Given the description of an element on the screen output the (x, y) to click on. 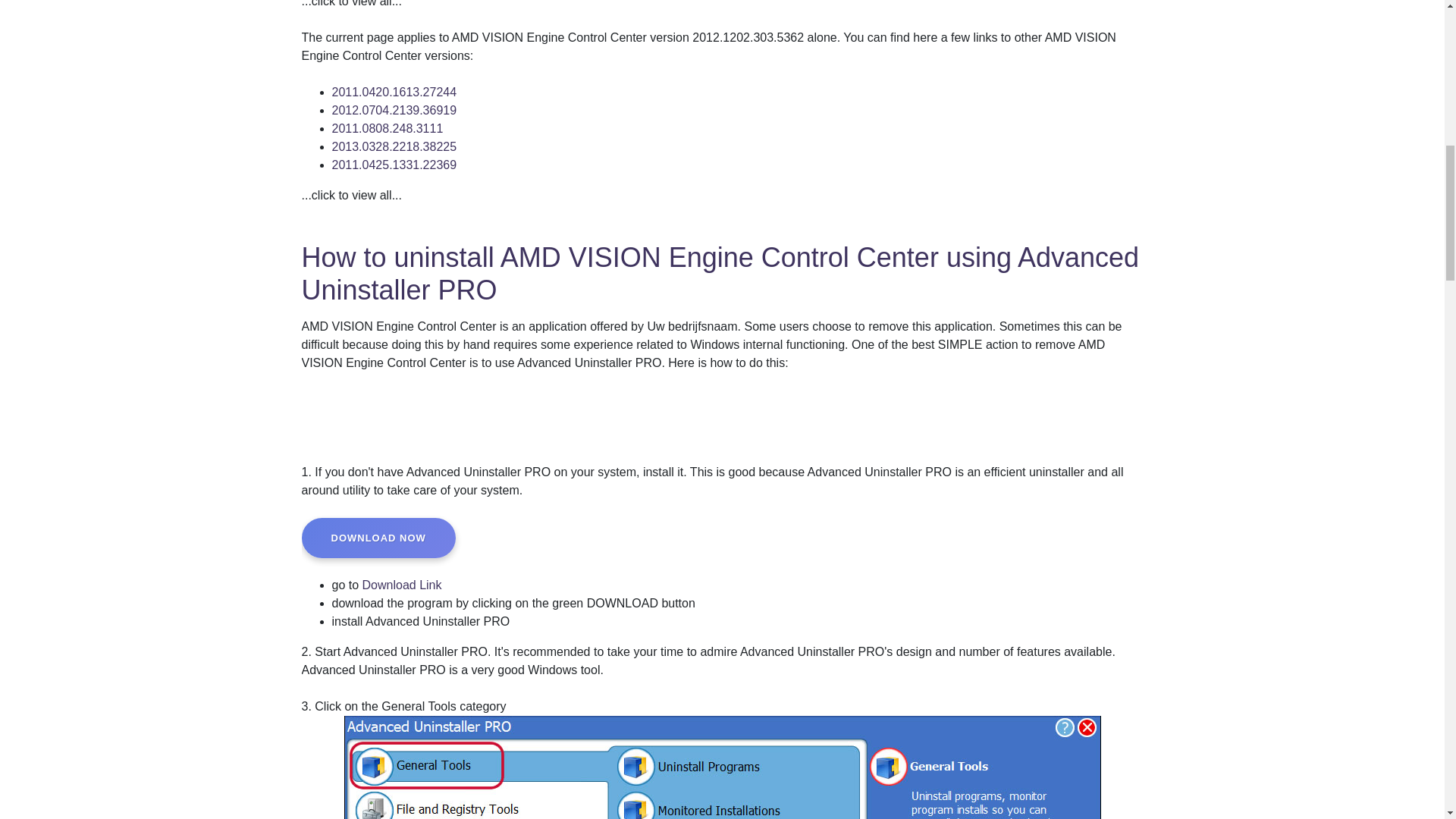
2011.0808.248.3111 (387, 128)
...click to view all... (351, 3)
2011.0425.1331.22369 (394, 164)
2013.0328.2218.38225 (394, 146)
2011.0420.1613.27244 (394, 91)
2012.0704.2139.36919 (394, 110)
